Given the description of an element on the screen output the (x, y) to click on. 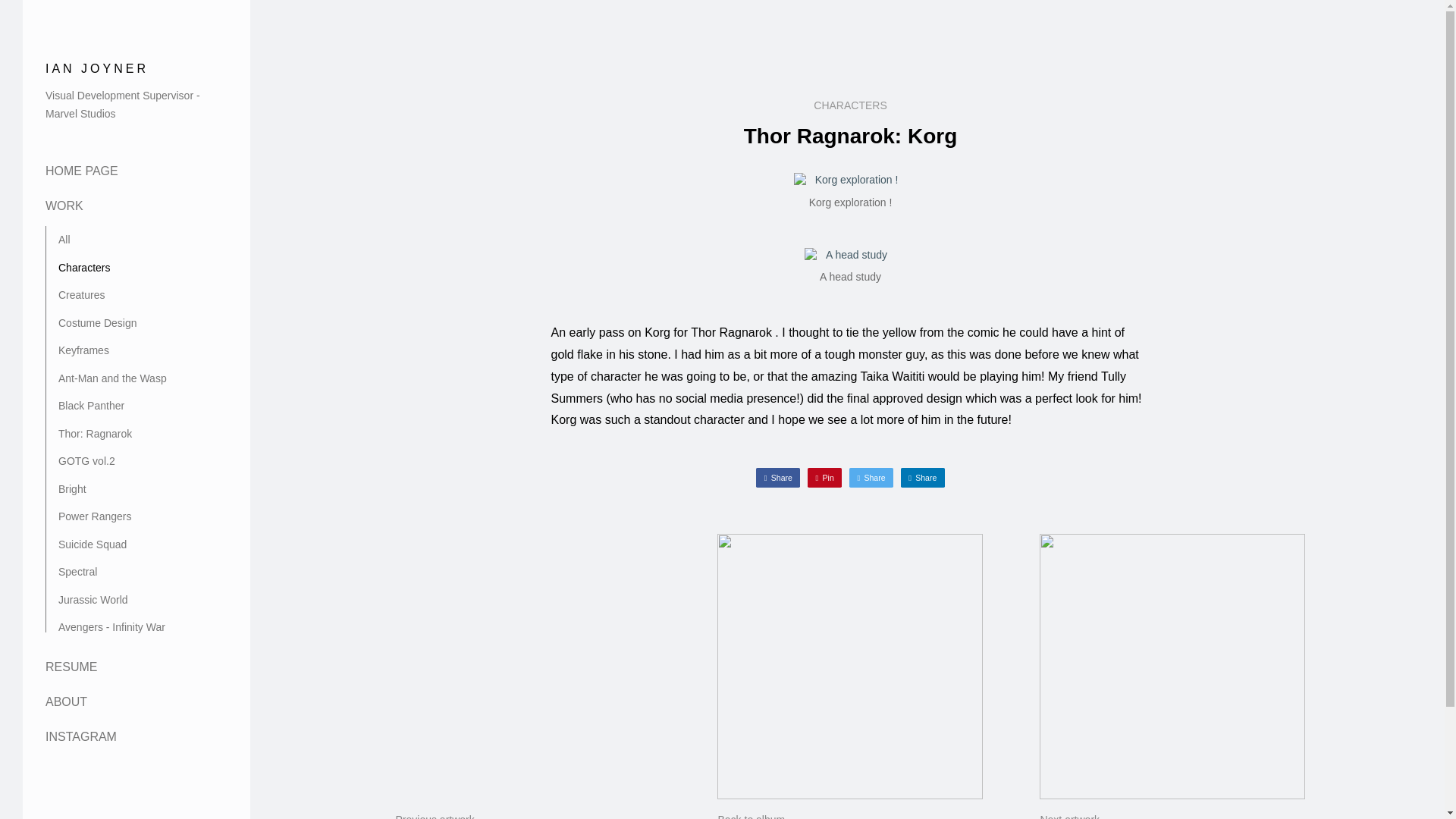
Pin (824, 476)
All (63, 239)
Characters (1171, 676)
Avengers - Infinity War (84, 267)
Share (111, 626)
Spectral (922, 476)
Costume Design (528, 676)
Ant-Man and the Wasp (77, 571)
